Given the description of an element on the screen output the (x, y) to click on. 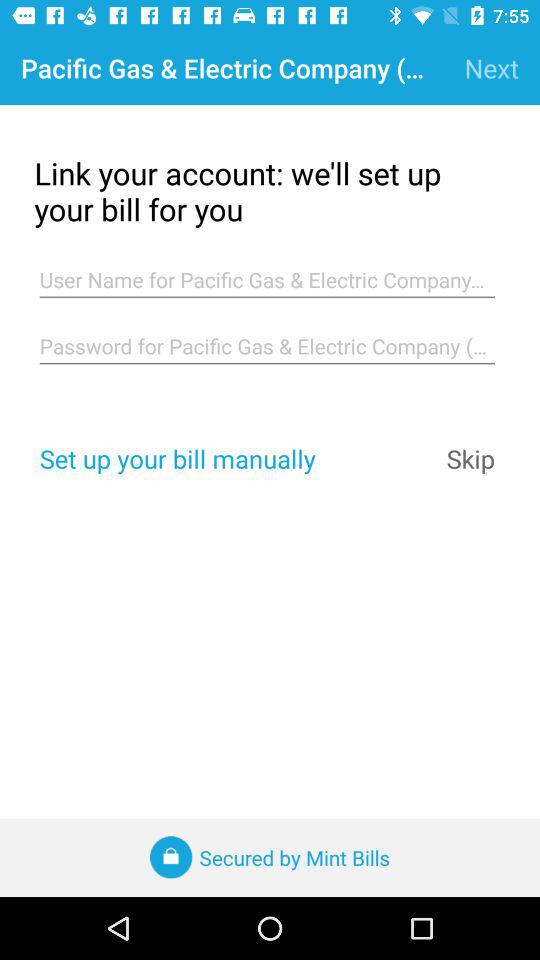
press app at the top right corner (491, 67)
